Given the description of an element on the screen output the (x, y) to click on. 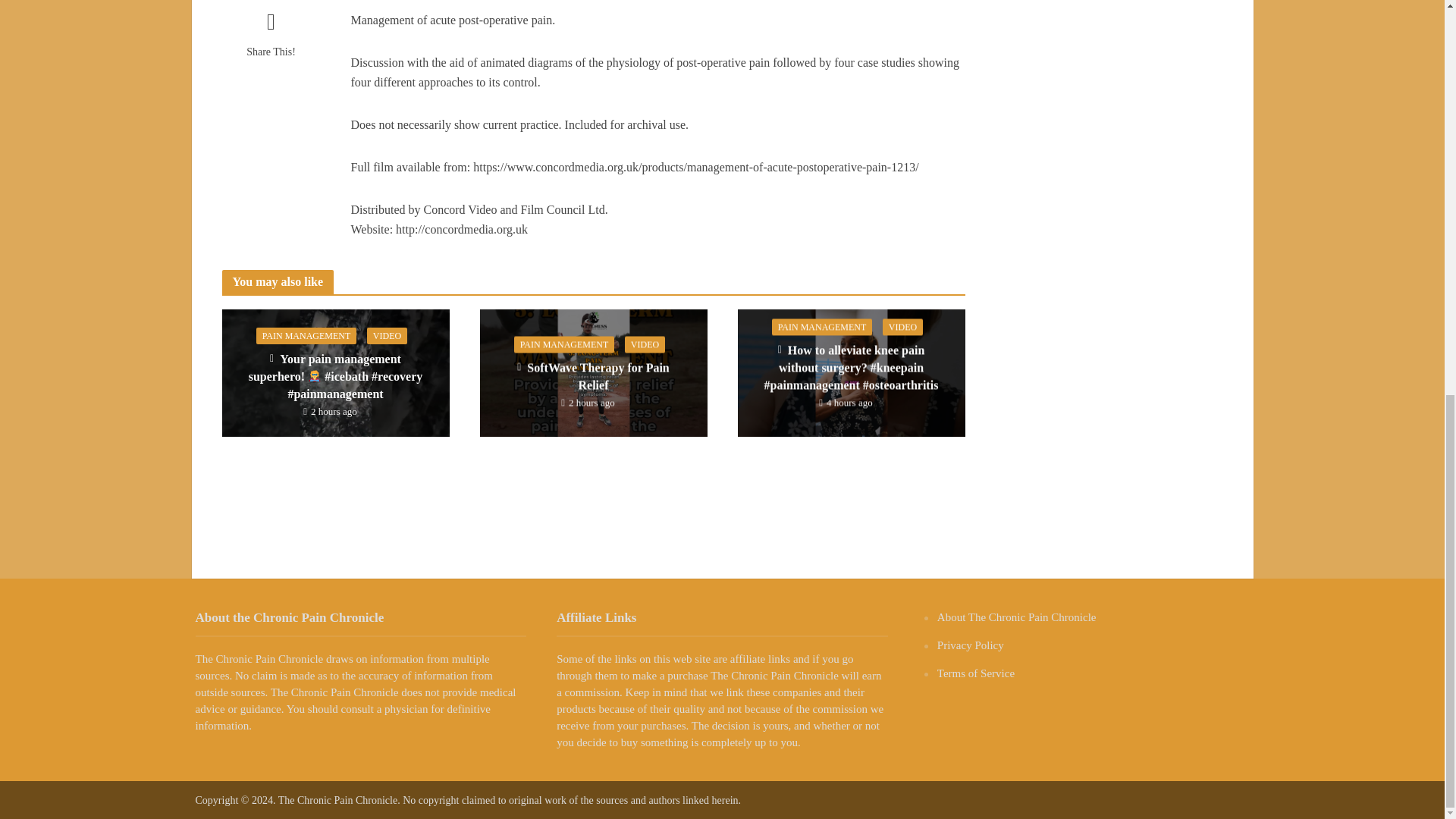
SoftWave Therapy for Pain Relief (592, 371)
